Given the description of an element on the screen output the (x, y) to click on. 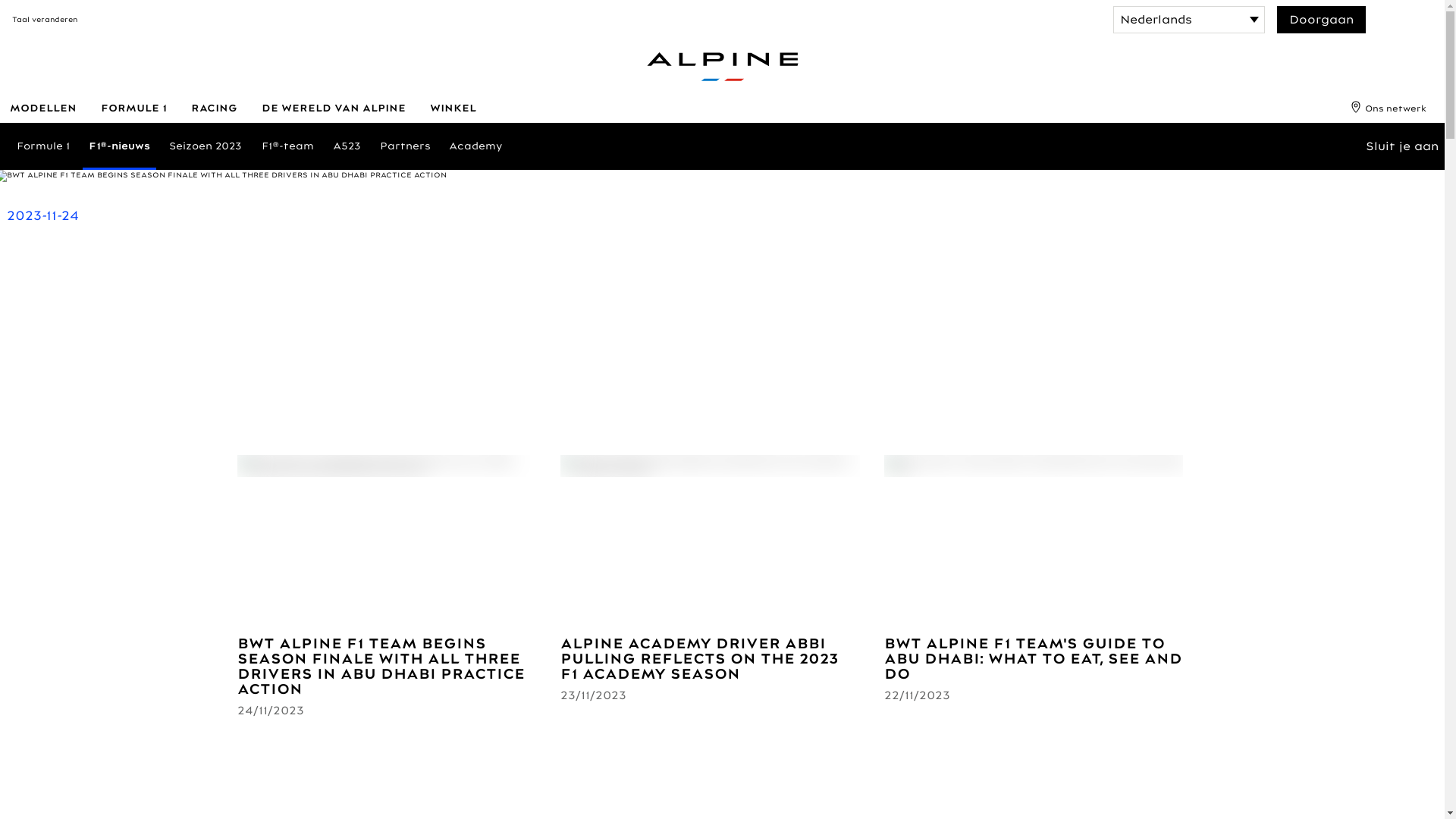
Formule 1 Element type: text (42, 145)
DE WERELD VAN ALPINE Element type: text (332, 108)
Partners Element type: text (404, 145)
Ontdek Element type: text (41, 333)
WINKEL Element type: text (452, 108)
Seizoen 2023 Element type: text (205, 145)
Sluit je aan Element type: text (1400, 145)
Ons netwerk Element type: text (1389, 108)
A523 Element type: text (346, 145)
RACING Element type: text (213, 108)
FORMULE 1 Element type: text (132, 108)
Academy Element type: text (475, 145)
Doorgaan Element type: text (1321, 19)
